Given the description of an element on the screen output the (x, y) to click on. 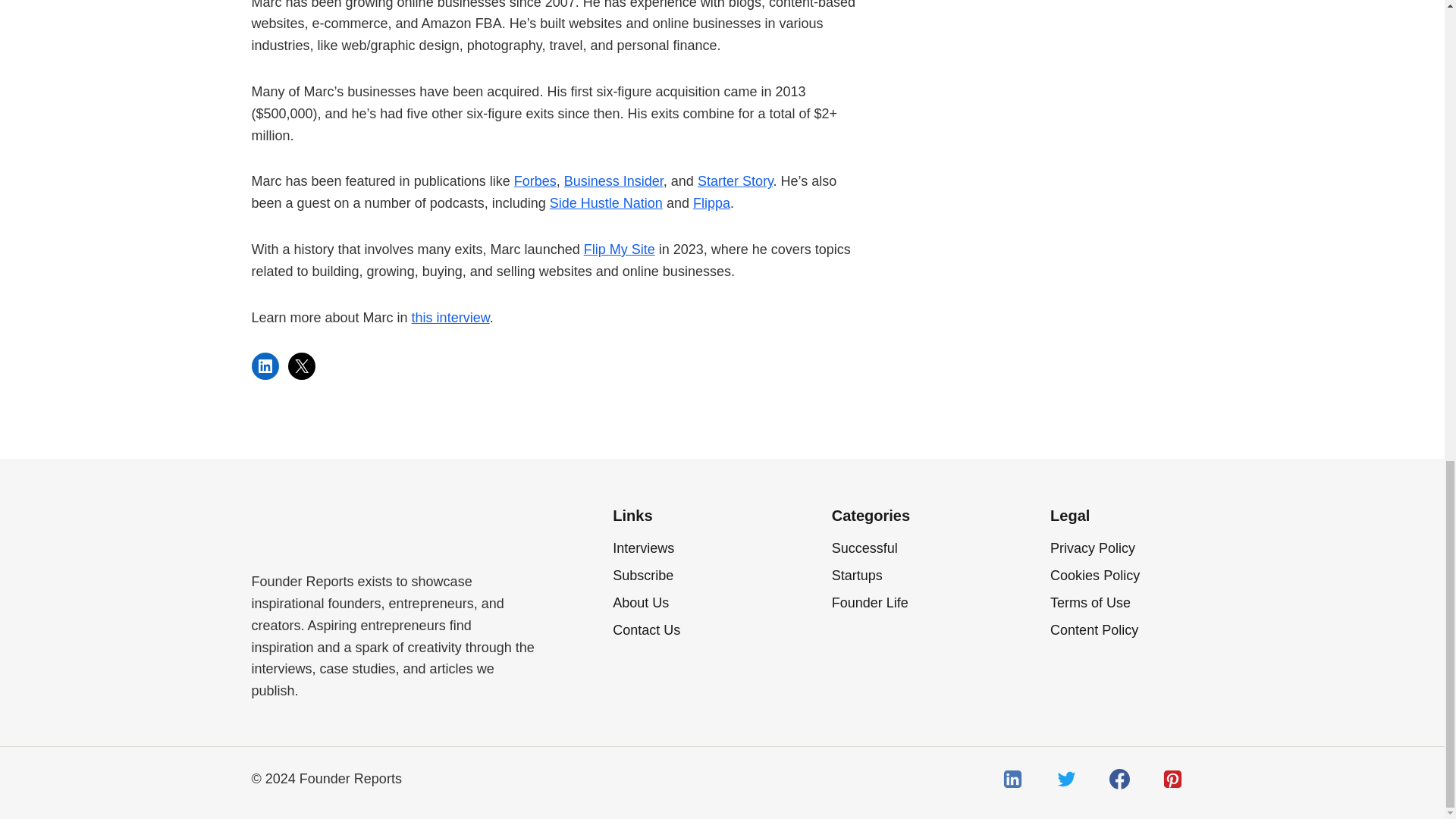
Content Policy (1120, 629)
Flippa (711, 202)
Startups (902, 574)
Starter Story (735, 181)
Subscribe (683, 574)
Cookies Policy (1120, 574)
Privacy Policy (1120, 547)
X (301, 366)
Terms of Use (1120, 602)
About Us (683, 602)
